Given the description of an element on the screen output the (x, y) to click on. 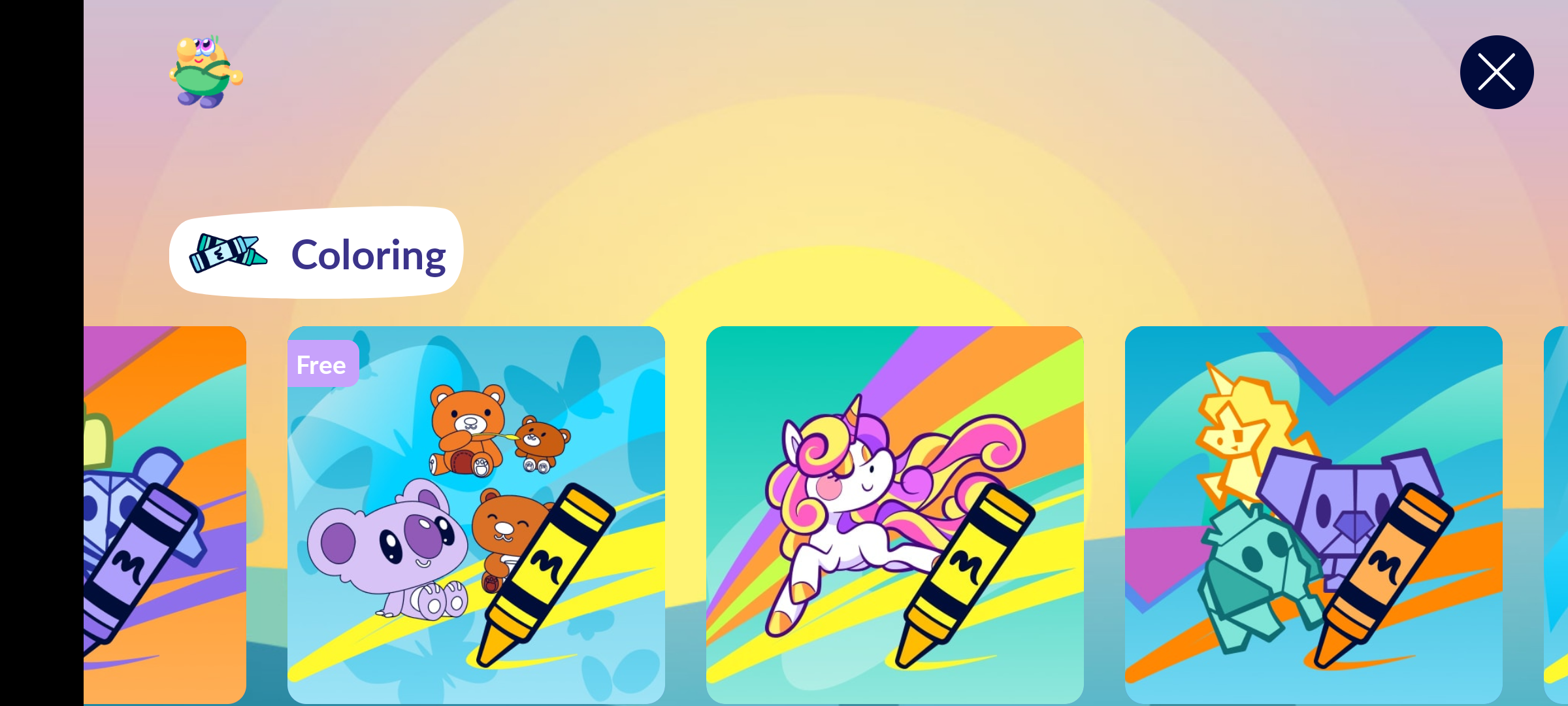
Profile icon (205, 71)
Featured Content Free (475, 514)
Featured Content (894, 514)
Featured Content (1313, 514)
